Given the description of an element on the screen output the (x, y) to click on. 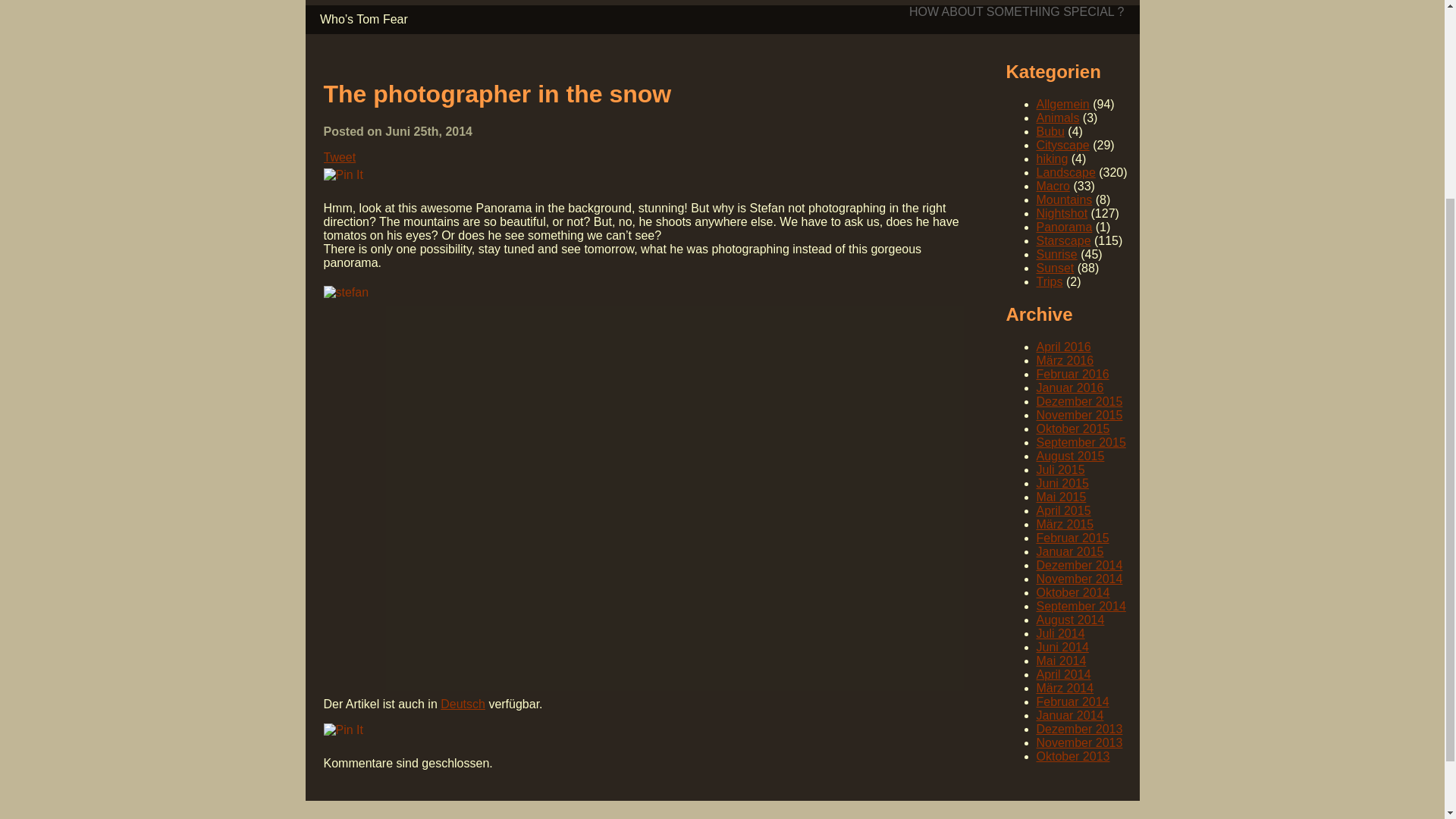
Allgemein (1062, 103)
Sunset (1054, 267)
August 2015 (1069, 455)
Trips (1048, 281)
Pin It (342, 730)
Pin It (342, 174)
Tweet (339, 156)
Landscape (1064, 172)
hiking (1051, 158)
Mai 2015 (1060, 496)
April 2016 (1062, 346)
Animals (1056, 117)
Panorama (1063, 226)
Deutsch (462, 703)
Nightshot (1061, 213)
